Given the description of an element on the screen output the (x, y) to click on. 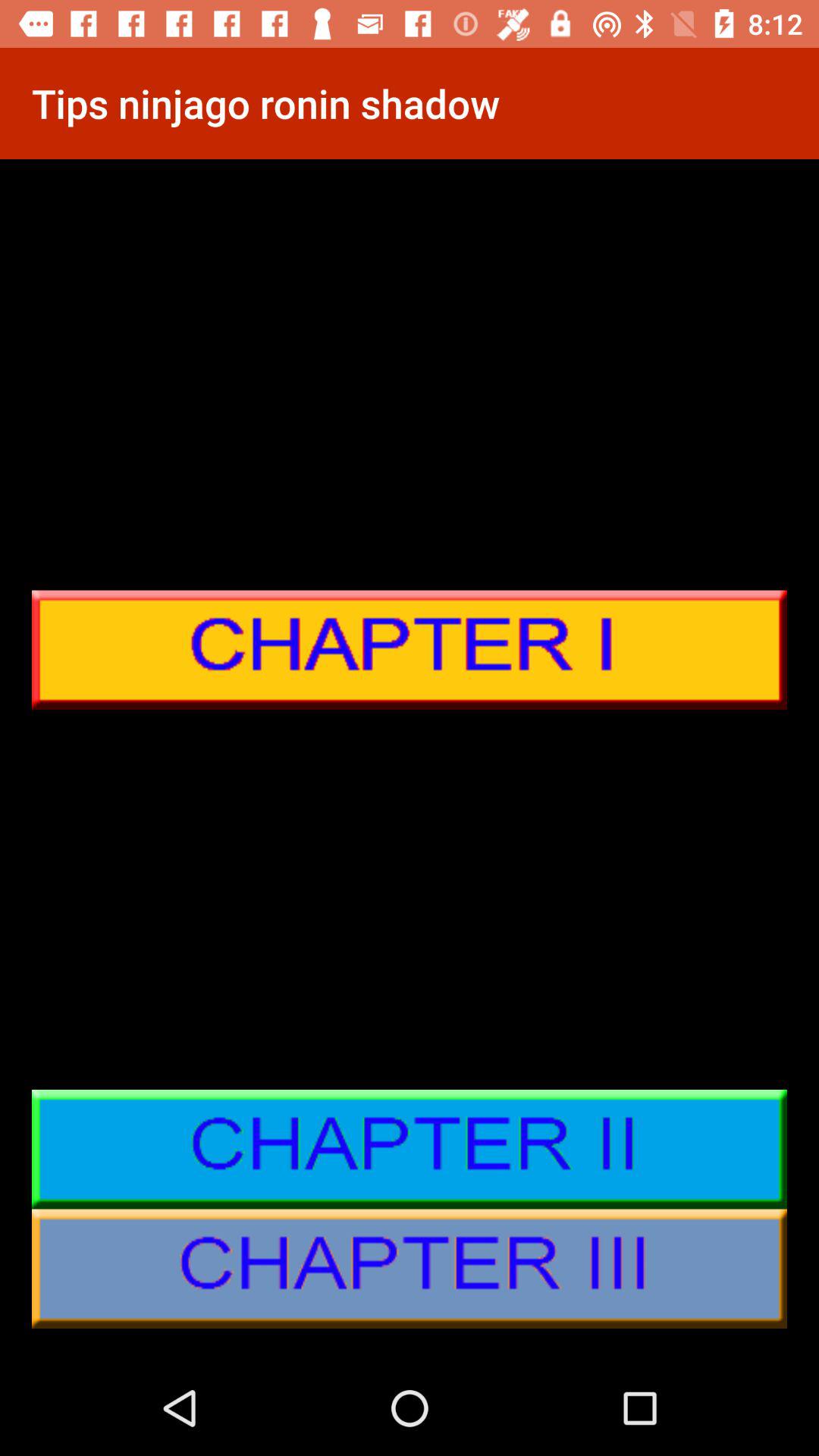
chapter three (409, 1268)
